Given the description of an element on the screen output the (x, y) to click on. 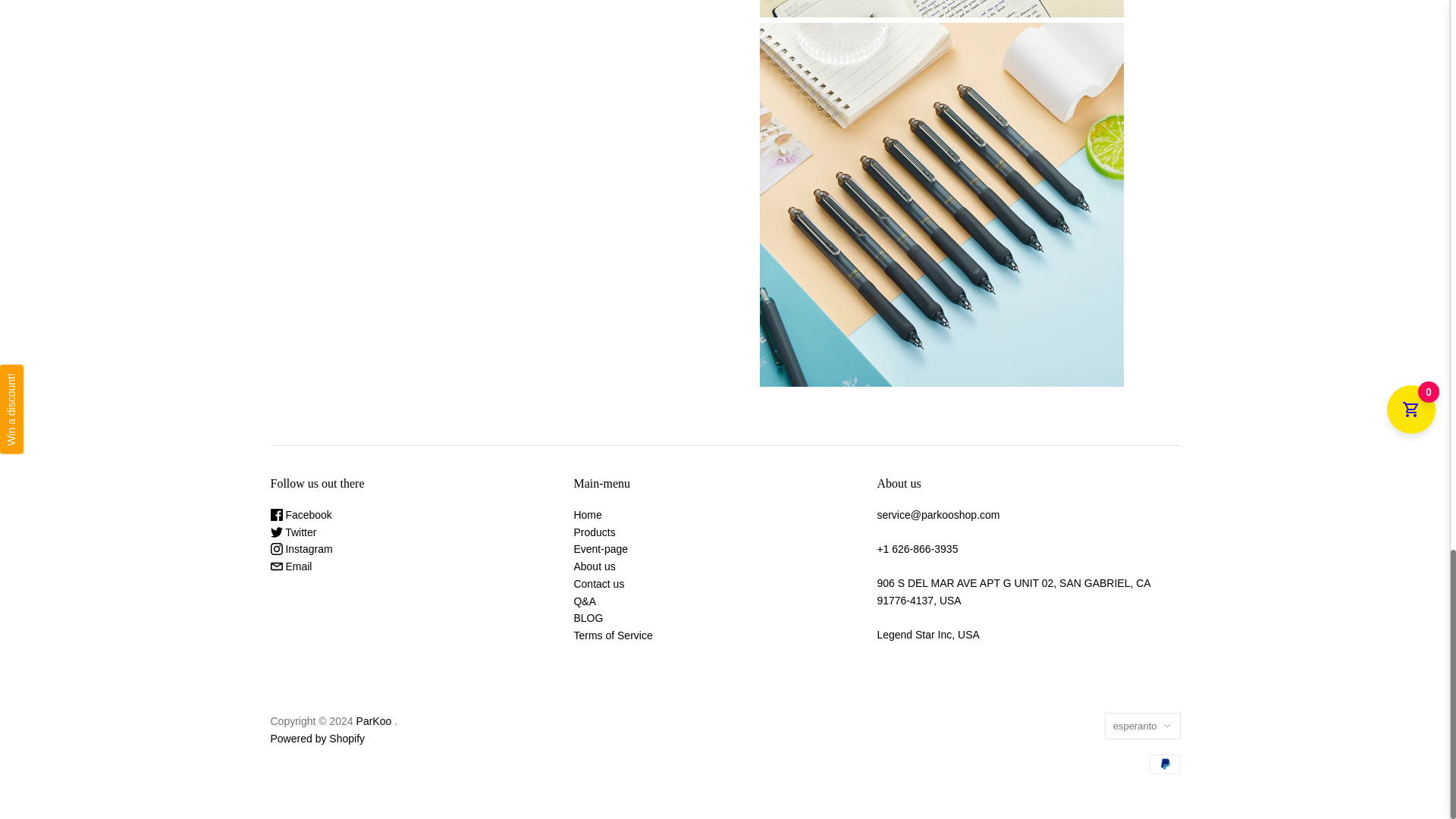
Email (290, 566)
Instagram (300, 548)
Twitter (292, 532)
Facebook (300, 514)
PayPal (1165, 763)
